Given the description of an element on the screen output the (x, y) to click on. 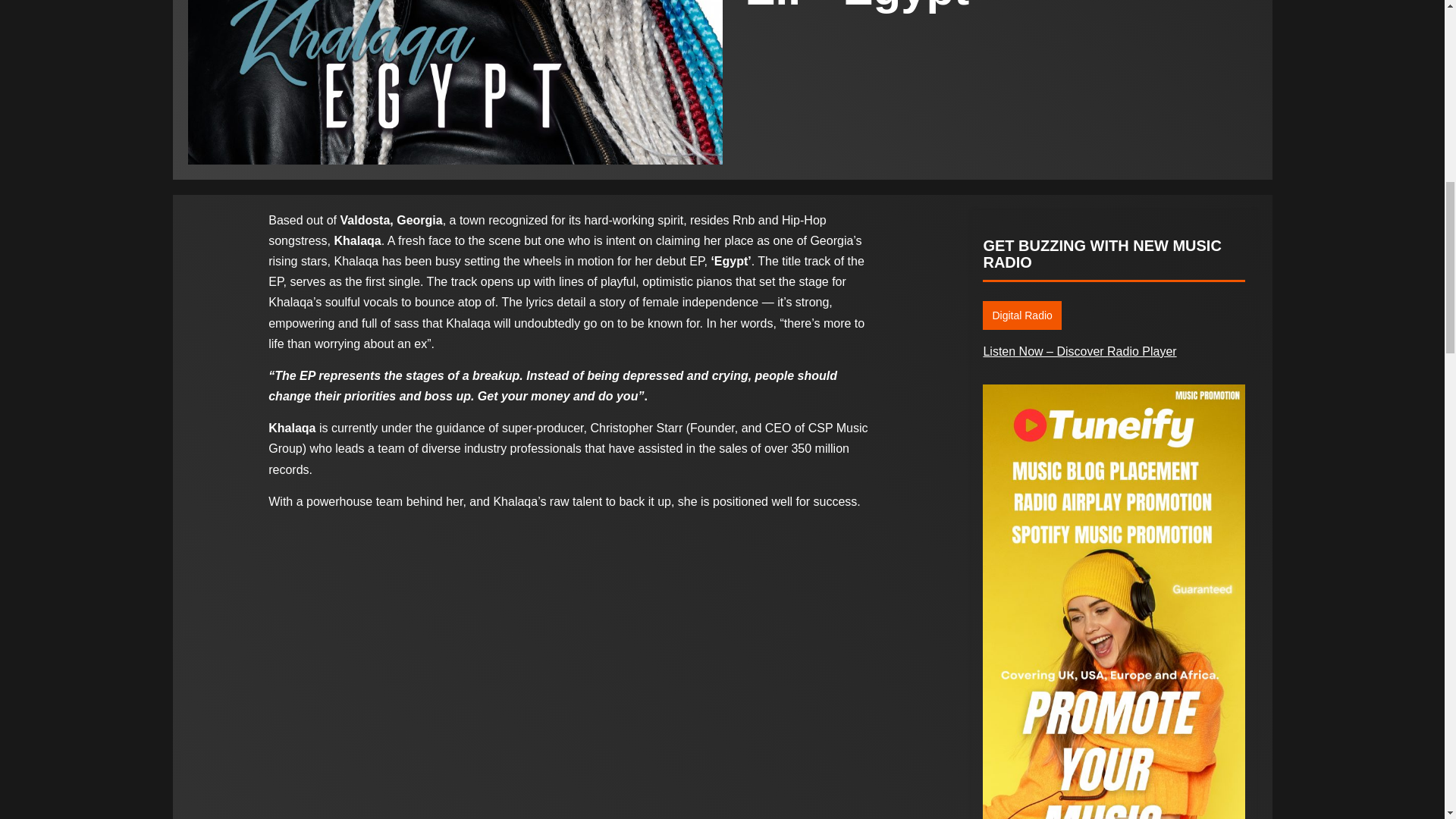
Digital Radio (1021, 315)
